Given the description of an element on the screen output the (x, y) to click on. 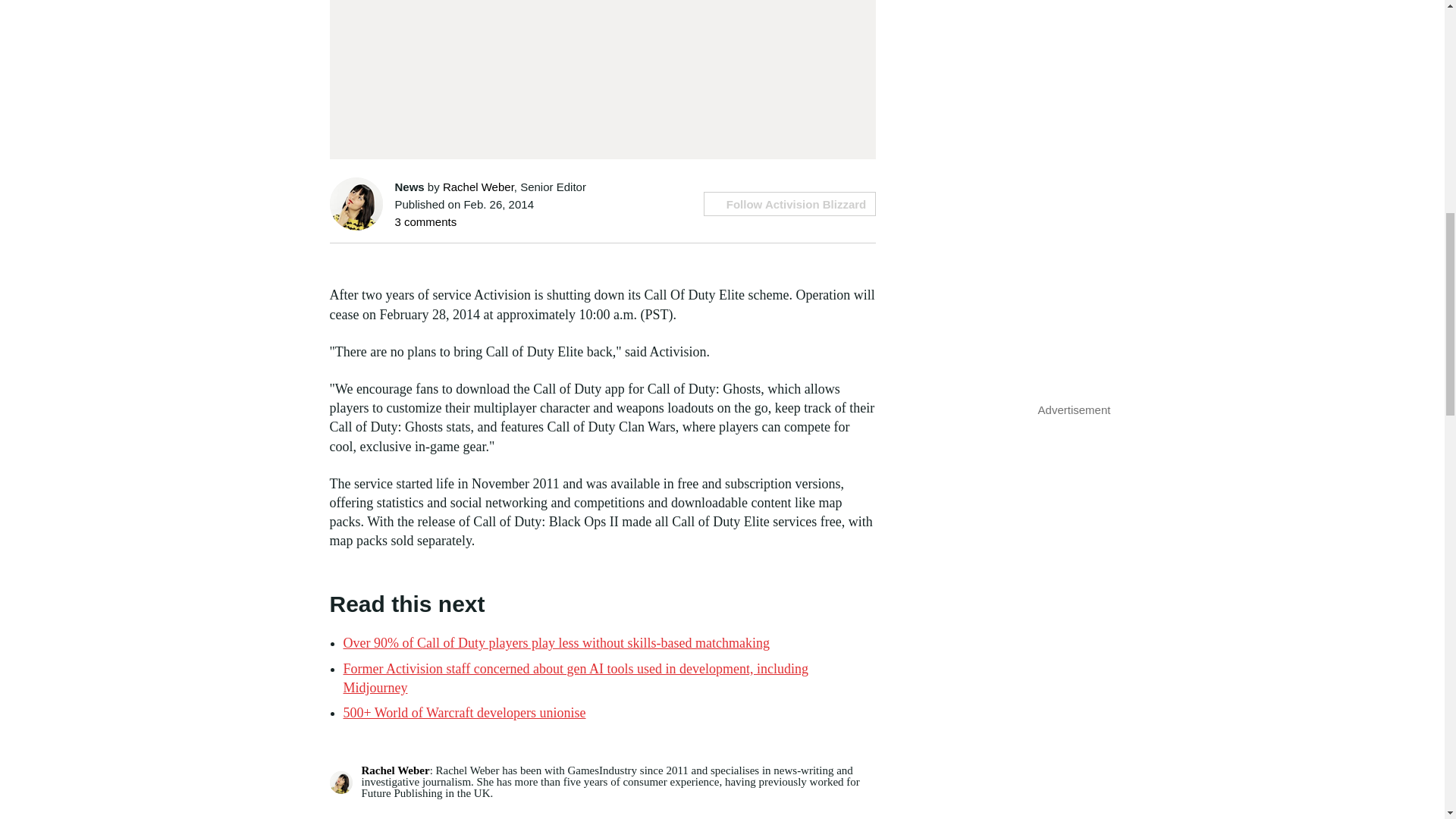
Follow Activision Blizzard (789, 203)
Rachel Weber (477, 186)
Follow Activision Blizzard (789, 203)
3 comments (425, 221)
Rachel Weber (395, 770)
